Given the description of an element on the screen output the (x, y) to click on. 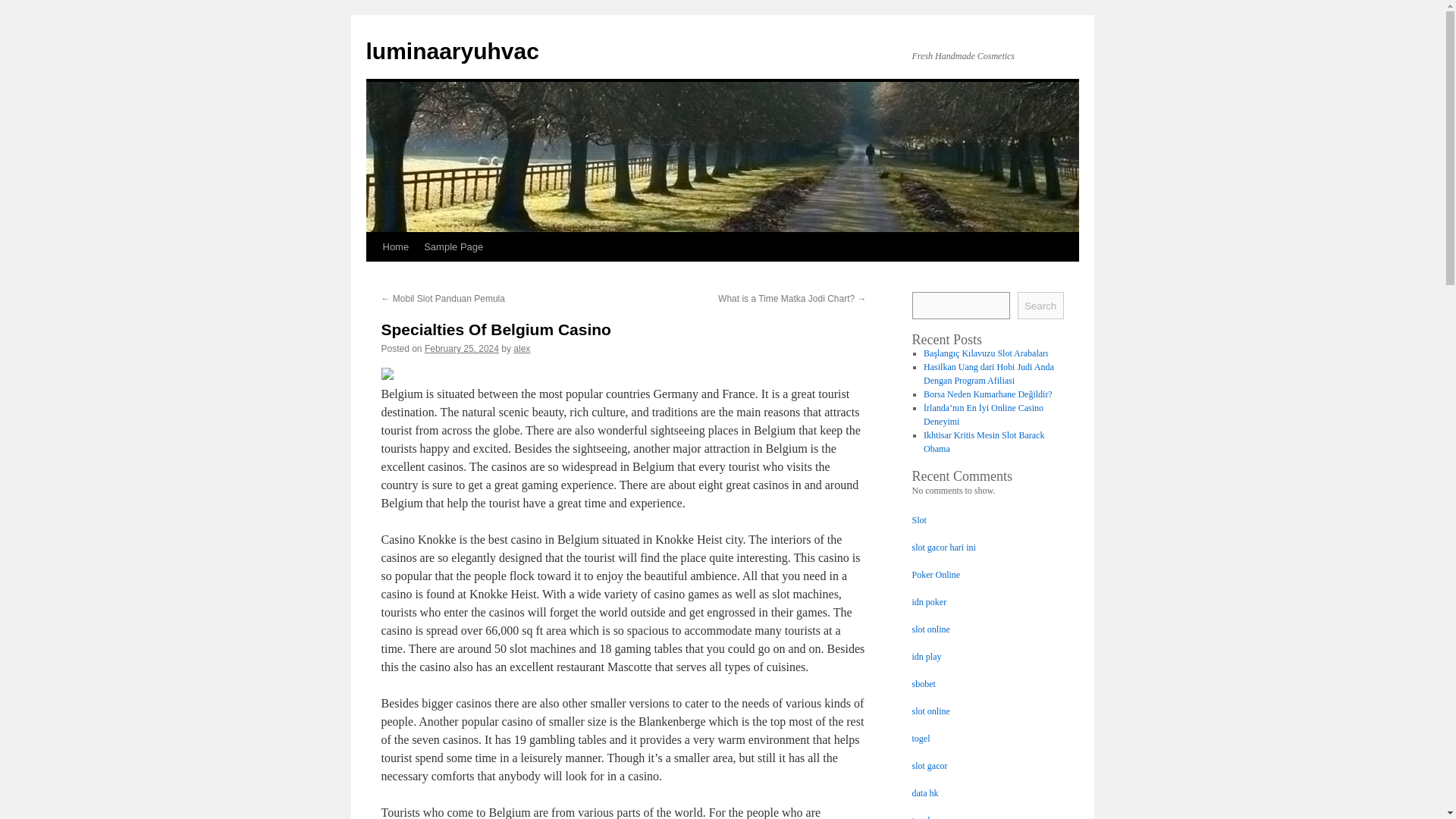
alex (521, 348)
Sample Page (453, 246)
slot gacor (929, 765)
idn poker (928, 602)
February 25, 2024 (462, 348)
Poker Online (935, 574)
View all posts by alex (521, 348)
luminaaryuhvac (451, 50)
slot gacor hari ini (943, 547)
Slot (918, 520)
slot online (930, 710)
Hasilkan Uang dari Hobi Judi Anda Dengan Program Afiliasi (988, 373)
data hk (924, 792)
sbobet (922, 683)
idn play (925, 656)
